Given the description of an element on the screen output the (x, y) to click on. 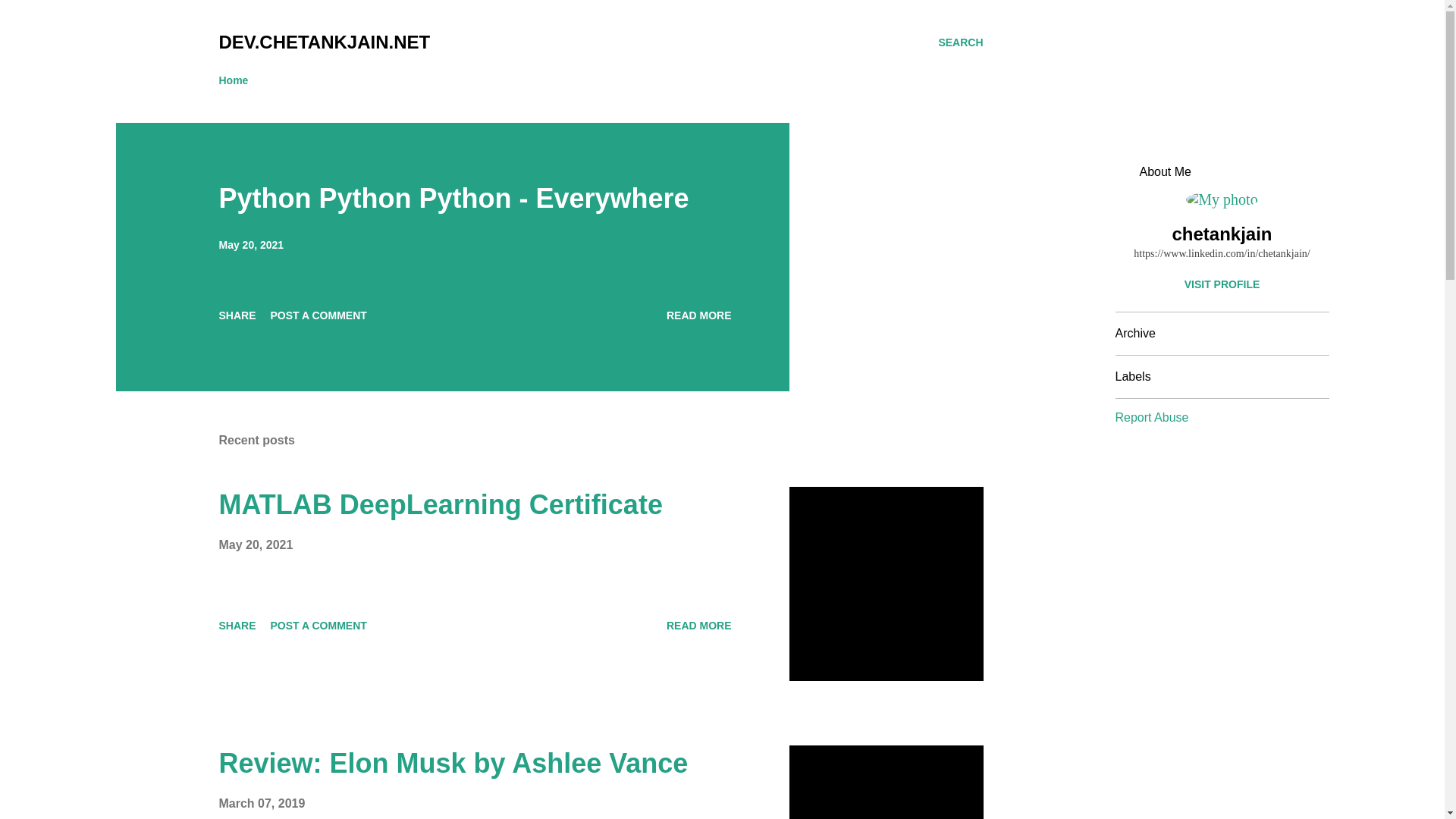
Python Python Python - Everywhere (699, 315)
SEARCH (959, 42)
March 07, 2019 (261, 802)
Python Python Python - Everywhere (453, 197)
Review: Elon Musk by Ashlee Vance (452, 762)
permanent link (250, 244)
permanent link (255, 544)
SHARE (237, 625)
May 20, 2021 (255, 544)
May 20, 2021 (250, 244)
